Given the description of an element on the screen output the (x, y) to click on. 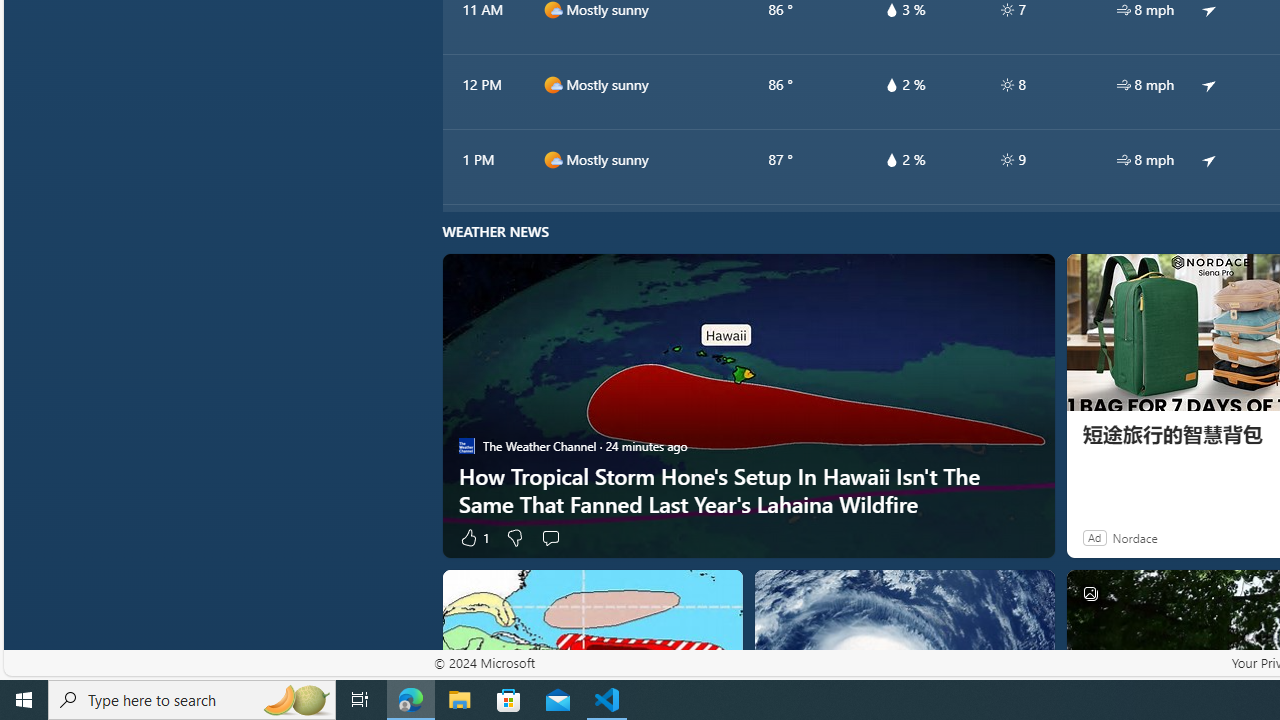
hourlyTable/wind (1123, 159)
